Given the description of an element on the screen output the (x, y) to click on. 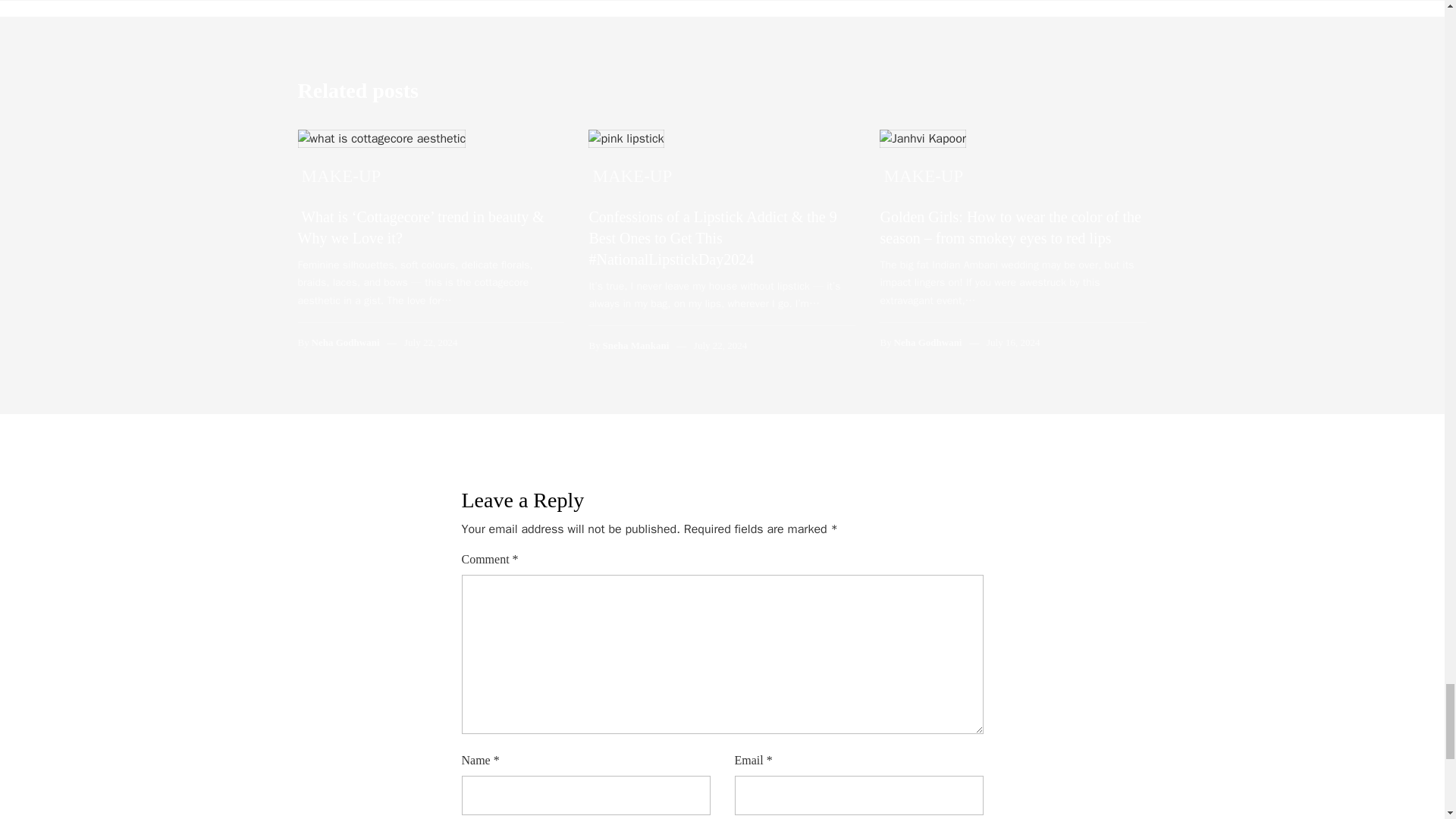
View all posts in Make-up (632, 176)
Posts by Neha Godhwani (345, 342)
View all posts in Make-up (341, 176)
Posts by Sneha Mankani (635, 345)
July 22, 2024 (430, 342)
